Given the description of an element on the screen output the (x, y) to click on. 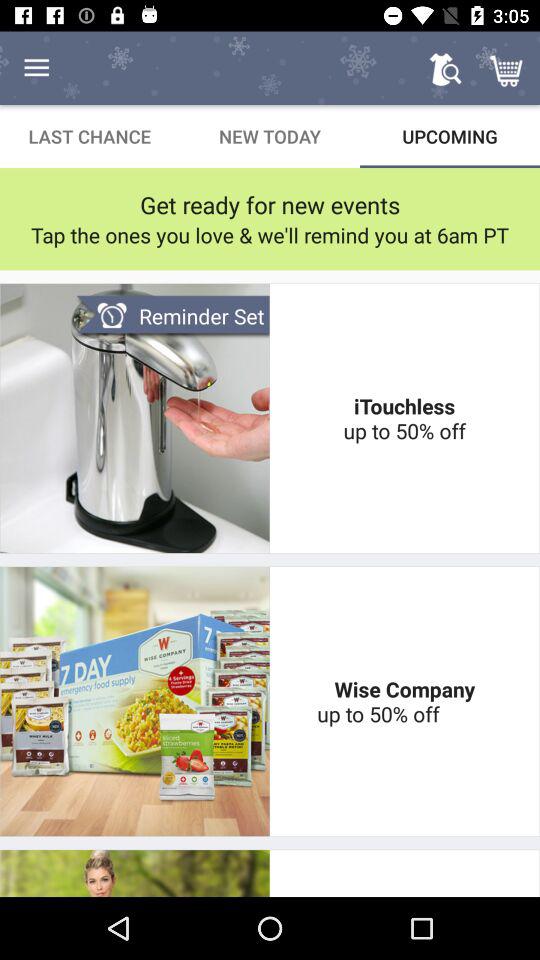
click the item below the tap the ones icon (404, 418)
